Given the description of an element on the screen output the (x, y) to click on. 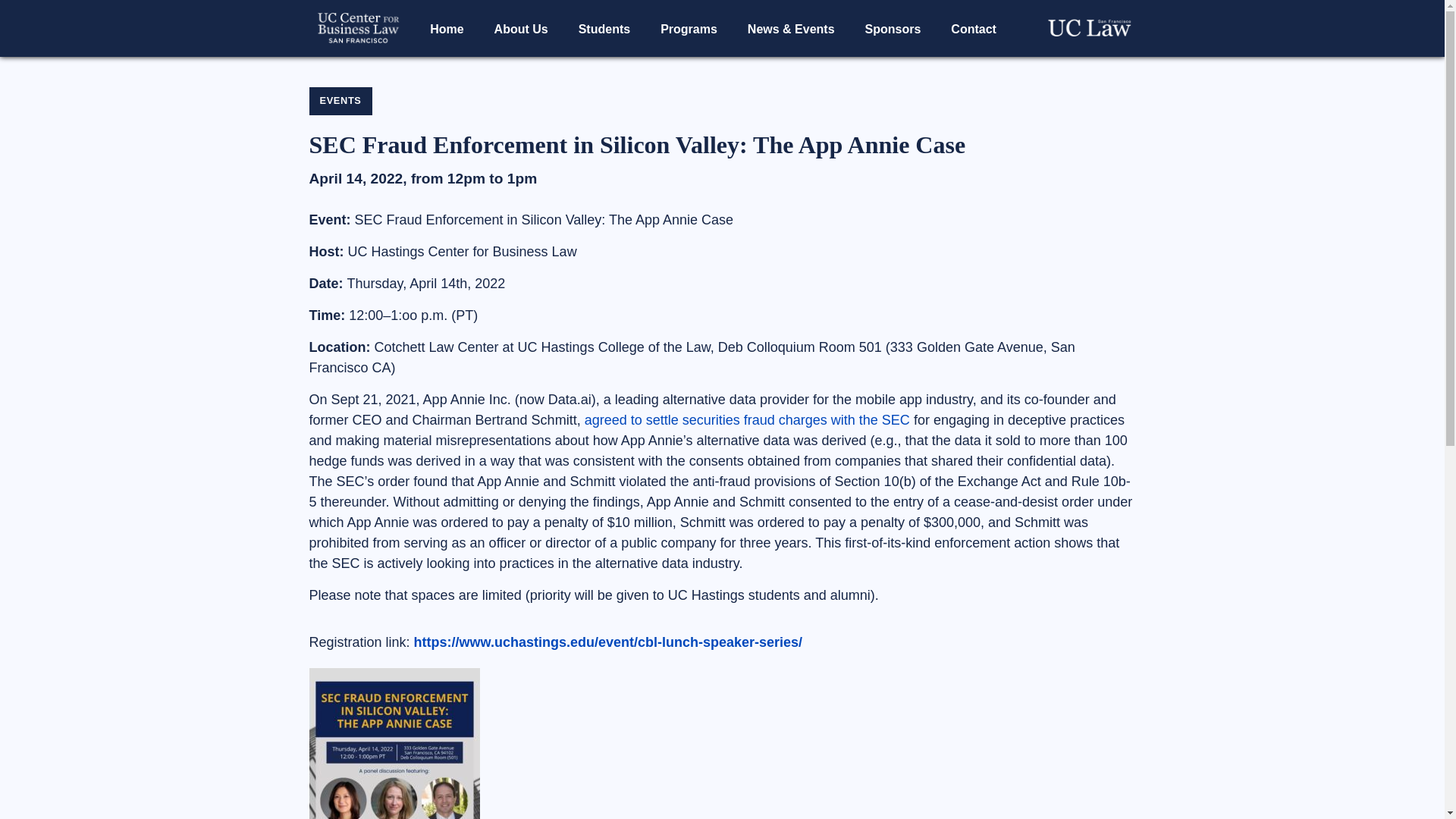
Home (446, 29)
Sponsors (893, 29)
Programs (688, 29)
Students (604, 29)
Contact (973, 29)
EVENTS (340, 100)
About Us (521, 29)
agreed to settle securities fraud charges with the SEC (747, 419)
